Given the description of an element on the screen output the (x, y) to click on. 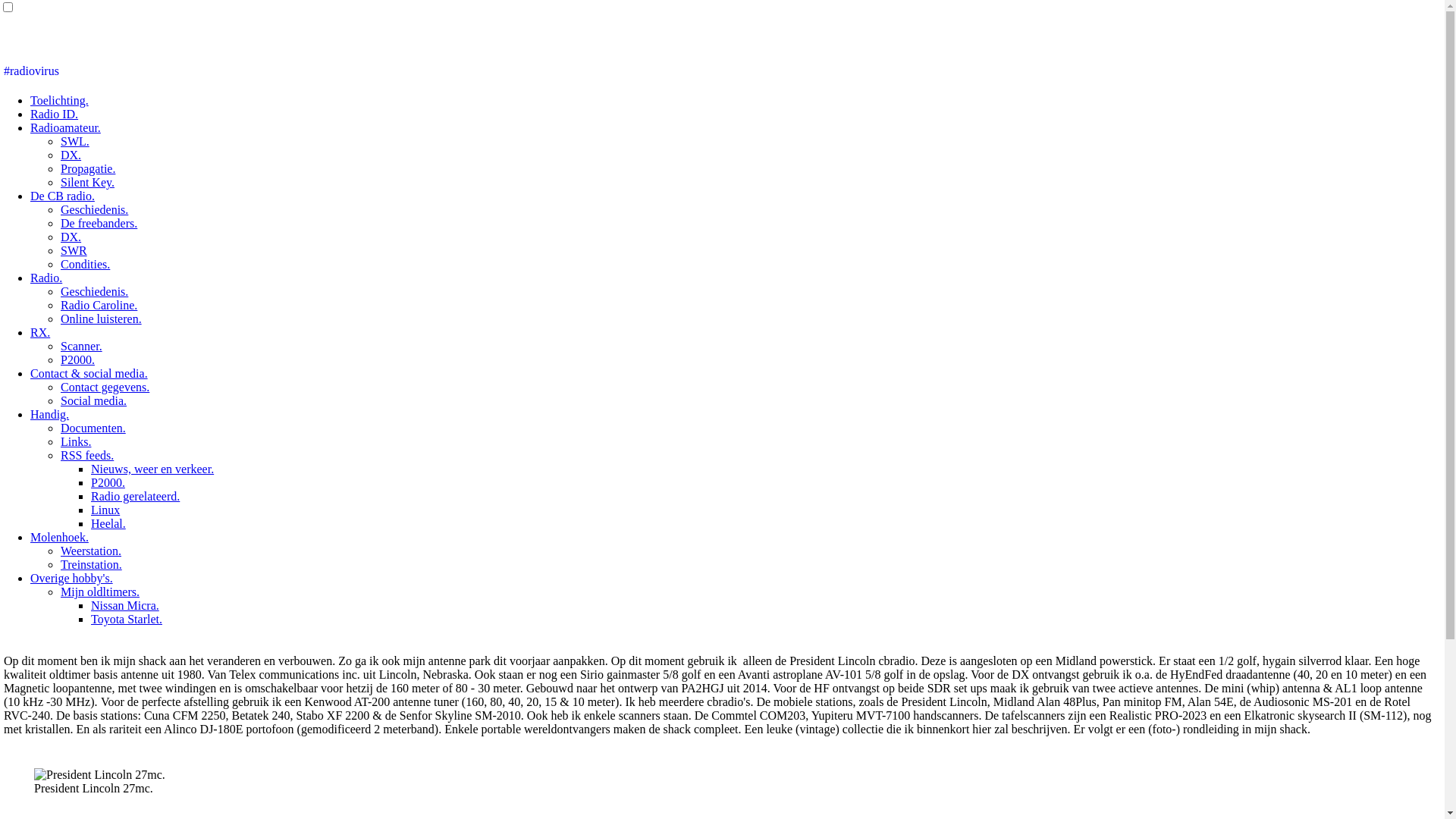
P2000. Element type: text (108, 482)
Geschiedenis. Element type: text (94, 209)
Documenten. Element type: text (92, 427)
DX. Element type: text (70, 236)
Radio ID. Element type: text (54, 113)
Silent Key. Element type: text (87, 181)
Radio Caroline. Element type: text (98, 304)
Links. Element type: text (75, 441)
RX. Element type: text (40, 332)
Overige hobby's. Element type: text (71, 577)
DX. Element type: text (70, 154)
Contact gegevens. Element type: text (104, 386)
Radio. Element type: text (46, 277)
Toelichting. Element type: text (59, 100)
Condities. Element type: text (84, 263)
P2000. Element type: text (77, 359)
Molenhoek. Element type: text (59, 536)
Toyota Starlet. Element type: text (126, 618)
Weerstation. Element type: text (90, 550)
SWR Element type: text (73, 250)
Nissan Micra. Element type: text (125, 605)
Heelal. Element type: text (108, 523)
Propagatie. Element type: text (87, 168)
Social media. Element type: text (93, 400)
#radiovirus Element type: text (31, 70)
Scanner. Element type: text (81, 345)
Treinstation. Element type: text (91, 564)
Online luisteren. Element type: text (100, 318)
RSS feeds. Element type: text (86, 454)
Radioamateur. Element type: text (65, 127)
Handig. Element type: text (49, 413)
De freebanders. Element type: text (98, 222)
Radio gerelateerd. Element type: text (135, 495)
De CB radio. Element type: text (62, 195)
Contact & social media. Element type: text (88, 373)
Mijn oldltimers. Element type: text (99, 591)
SWL. Element type: text (74, 140)
Geschiedenis. Element type: text (94, 291)
Nieuws, weer en verkeer. Element type: text (152, 468)
Linux Element type: text (105, 509)
